Given the description of an element on the screen output the (x, y) to click on. 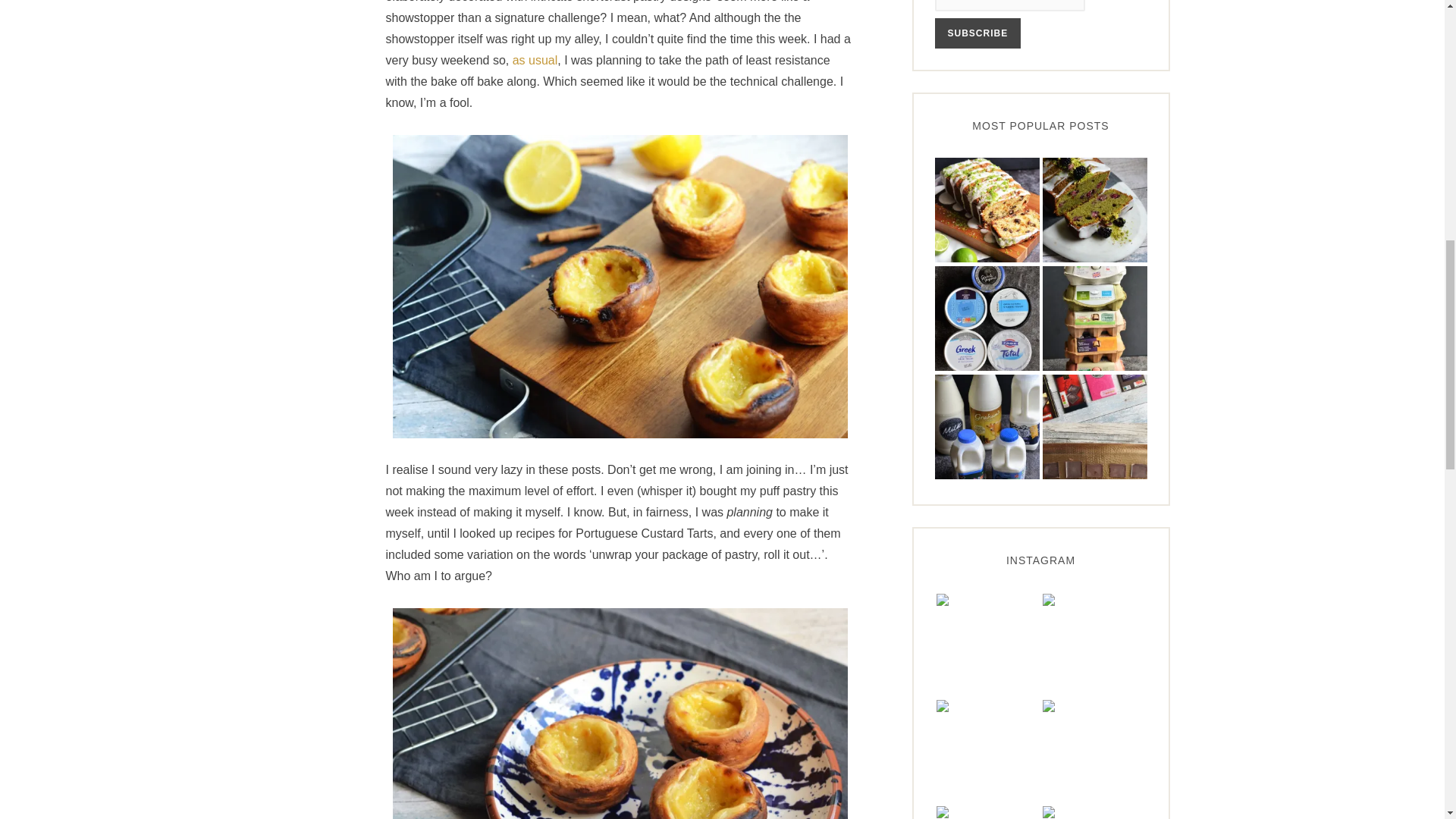
Subscribe (977, 33)
Subscribe (977, 33)
as usual (534, 60)
The Taste Test: Whole Milk (986, 426)
The Taste Test: Dark Chocolate (1094, 426)
The Taste Test: Greek Yoghurt (986, 318)
Pistachio, Blackberry, and Lemon Loaf Cake (1094, 210)
The Taste Test: Eggs (1094, 318)
